Given the description of an element on the screen output the (x, y) to click on. 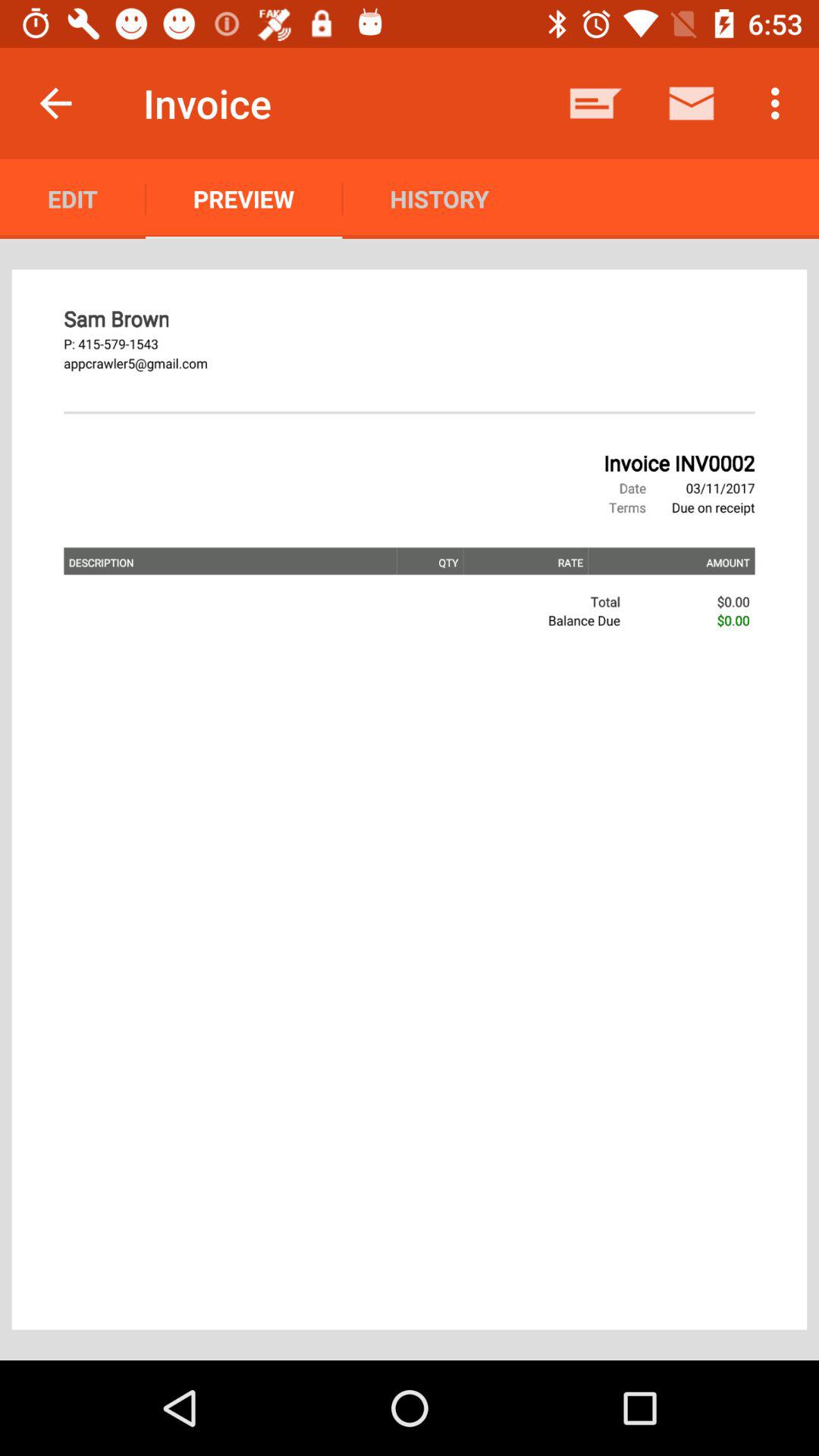
open the icon to the right of the preview (439, 198)
